Given the description of an element on the screen output the (x, y) to click on. 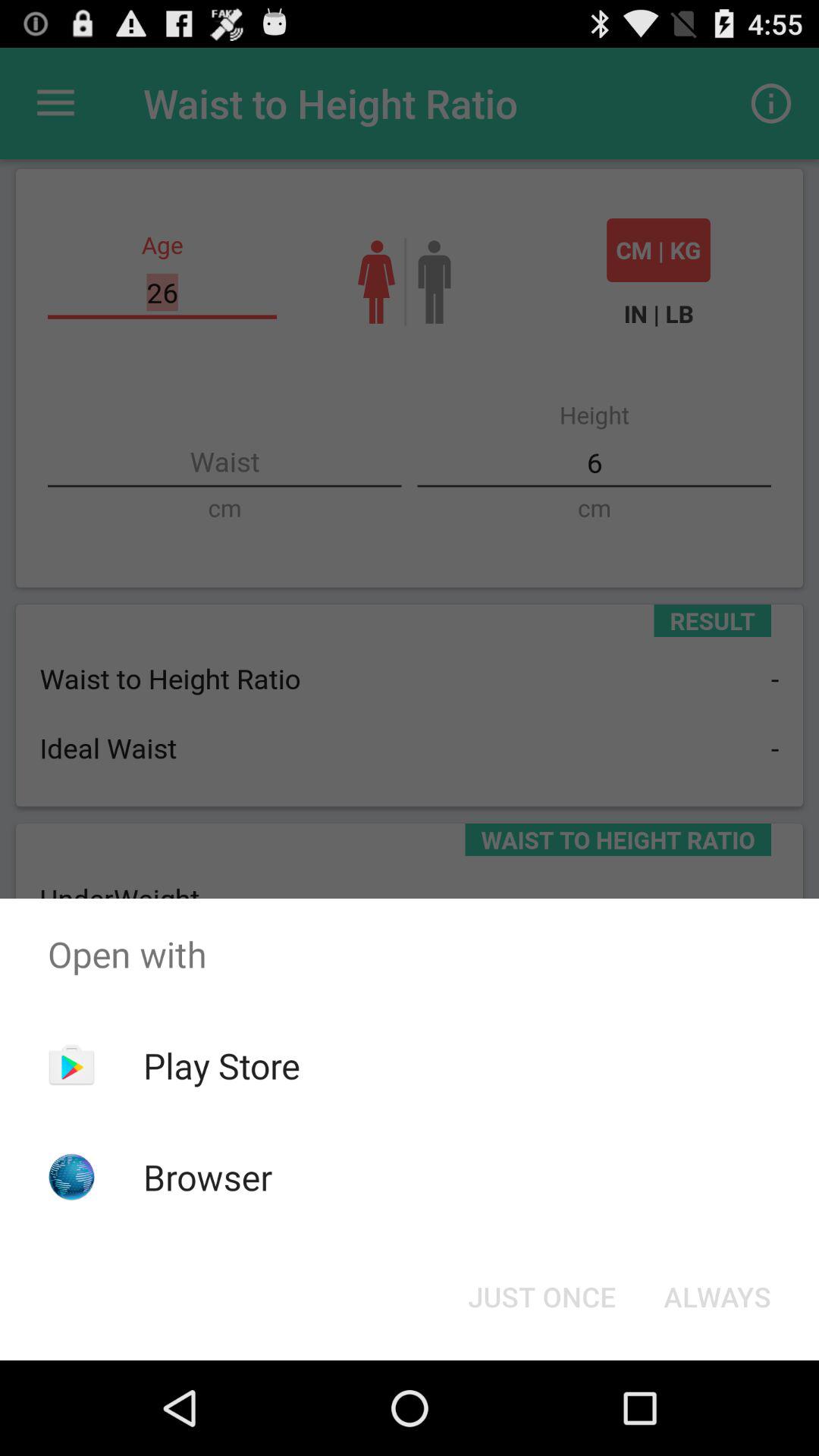
press the item below the play store app (207, 1176)
